Given the description of an element on the screen output the (x, y) to click on. 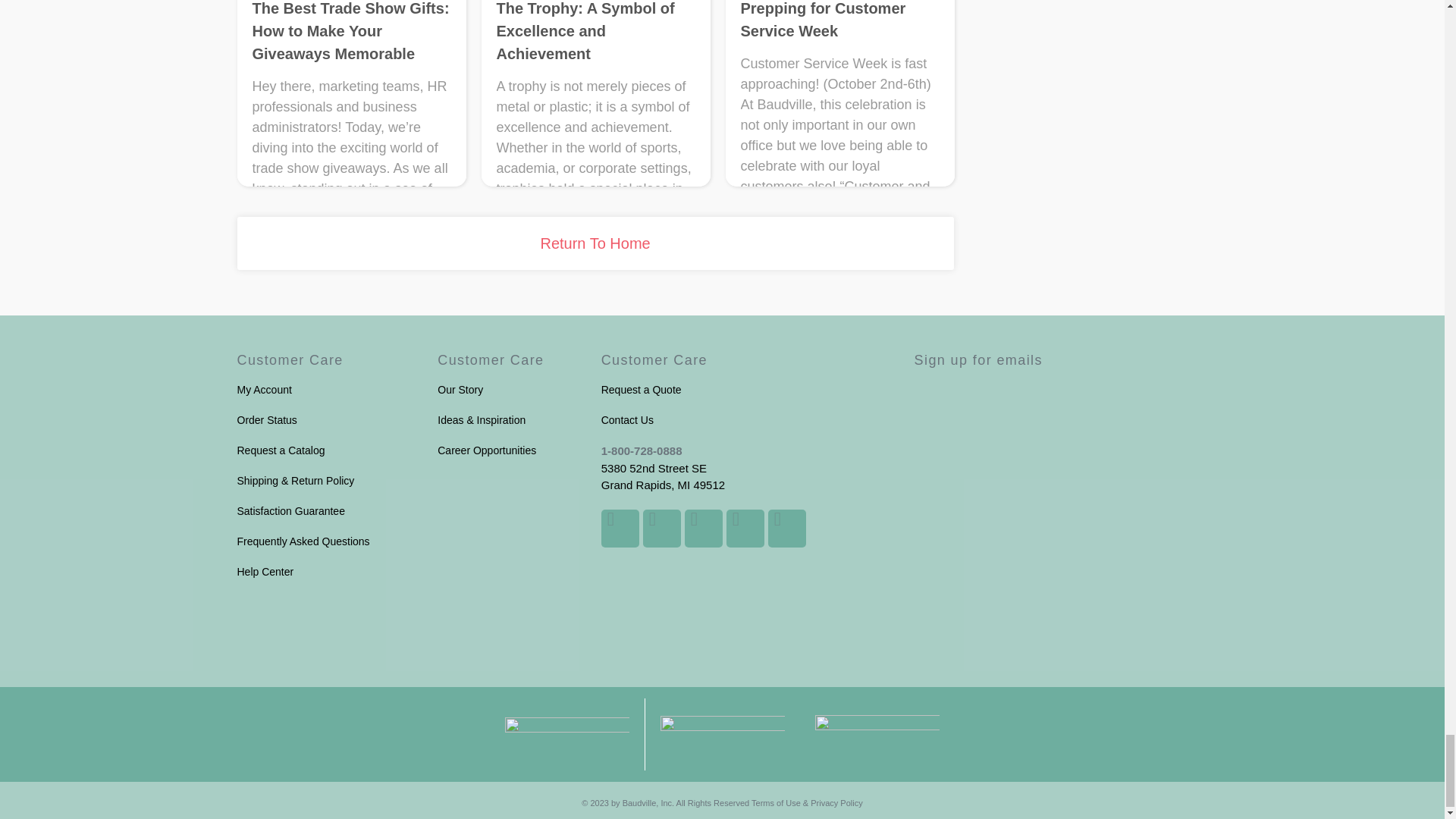
Form 1 (1061, 469)
